Given the description of an element on the screen output the (x, y) to click on. 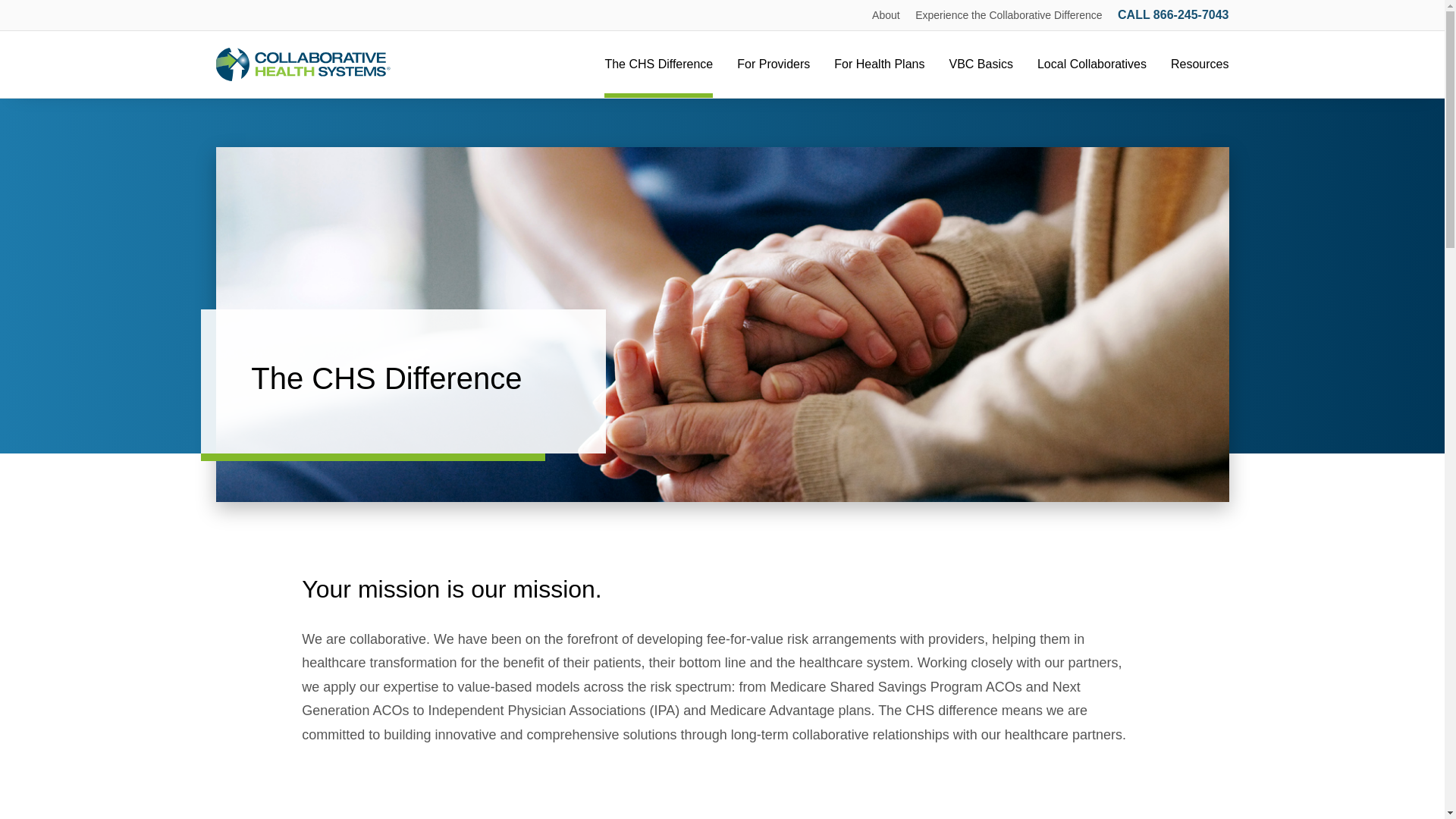
The CHS Difference (658, 64)
Experience the Collaborative Difference (1008, 15)
For Health Plans (879, 64)
VBC Basics (980, 64)
About (885, 15)
Local Collaboratives (1091, 64)
CALL 866-245-7043 (1173, 14)
Local Collaboratives (1091, 64)
For Providers (772, 64)
